Given the description of an element on the screen output the (x, y) to click on. 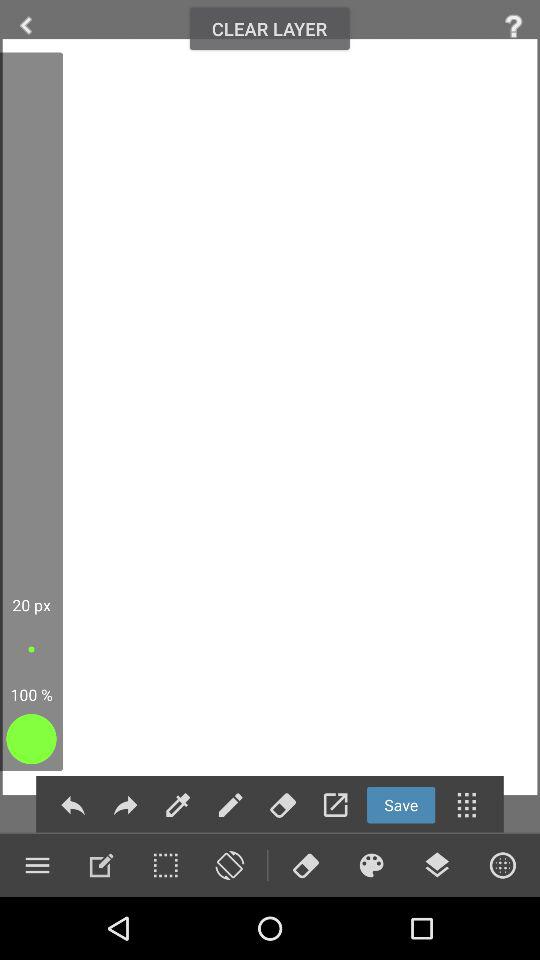
menu button (466, 804)
